Given the description of an element on the screen output the (x, y) to click on. 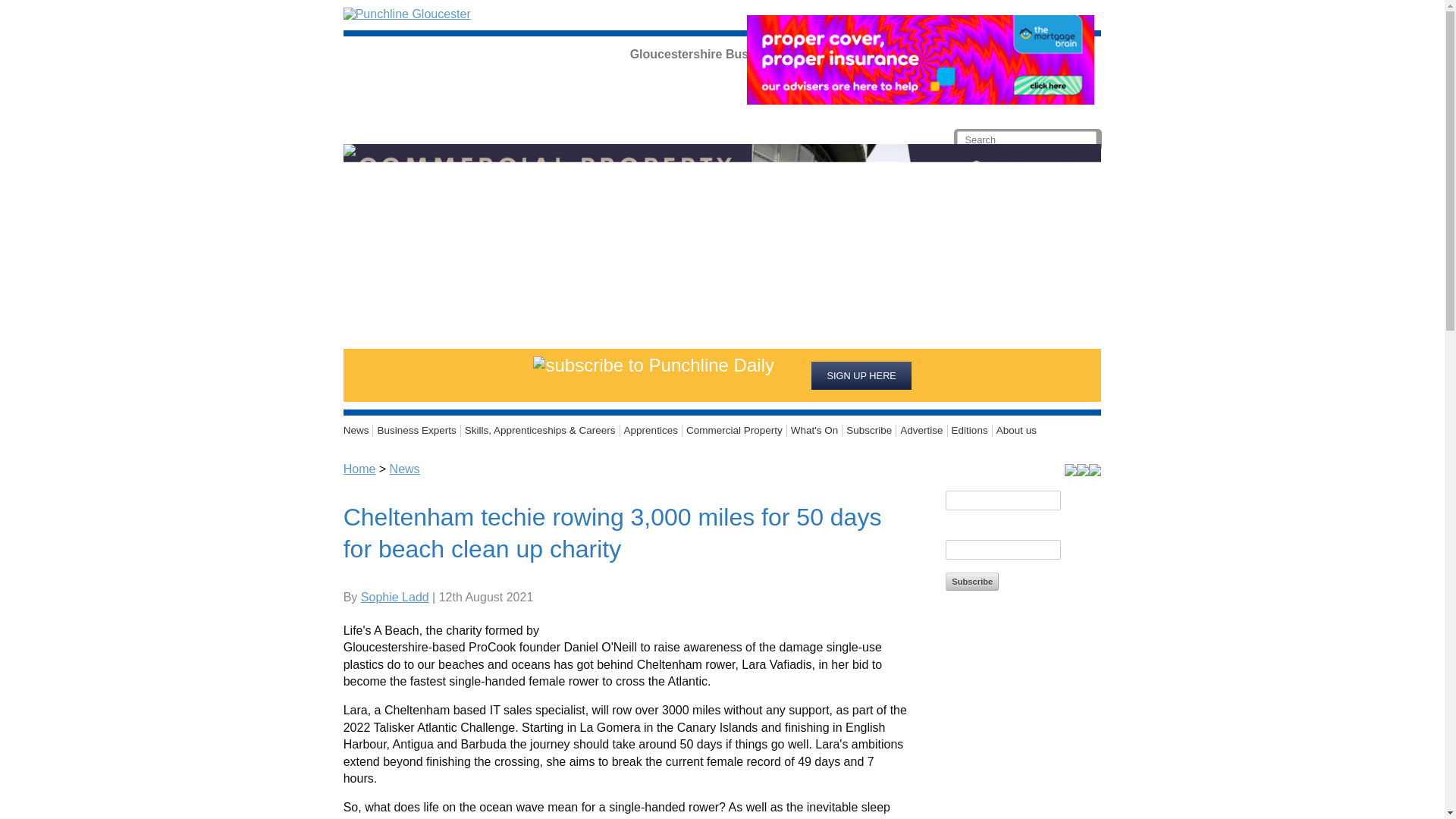
Advertise (921, 430)
Subscribe (869, 430)
Subscribe (869, 430)
News (358, 430)
search (52, 12)
Sign Up Here (860, 375)
What's On (815, 430)
About us (1014, 430)
About us (1014, 430)
Subscribe (971, 581)
Business Experts (416, 430)
Sign Up Here (860, 375)
News (358, 430)
Advertise (921, 430)
